Given the description of an element on the screen output the (x, y) to click on. 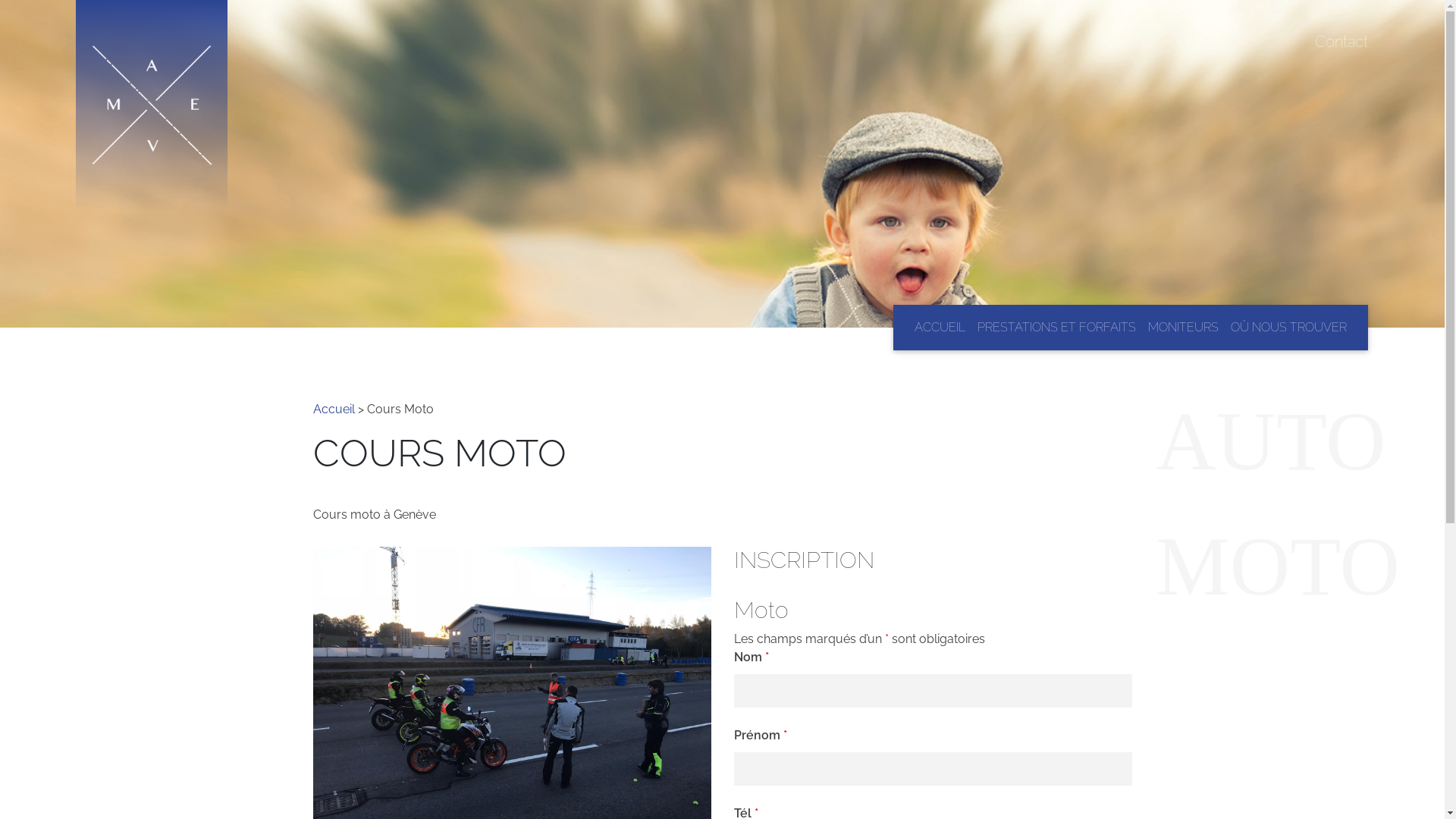
Contact Element type: text (1341, 41)
ACCUEIL Element type: text (939, 327)
MONITEURS Element type: text (1183, 327)
PRESTATIONS ET FORFAITS Element type: text (1056, 327)
Accueil Element type: text (333, 408)
